Given the description of an element on the screen output the (x, y) to click on. 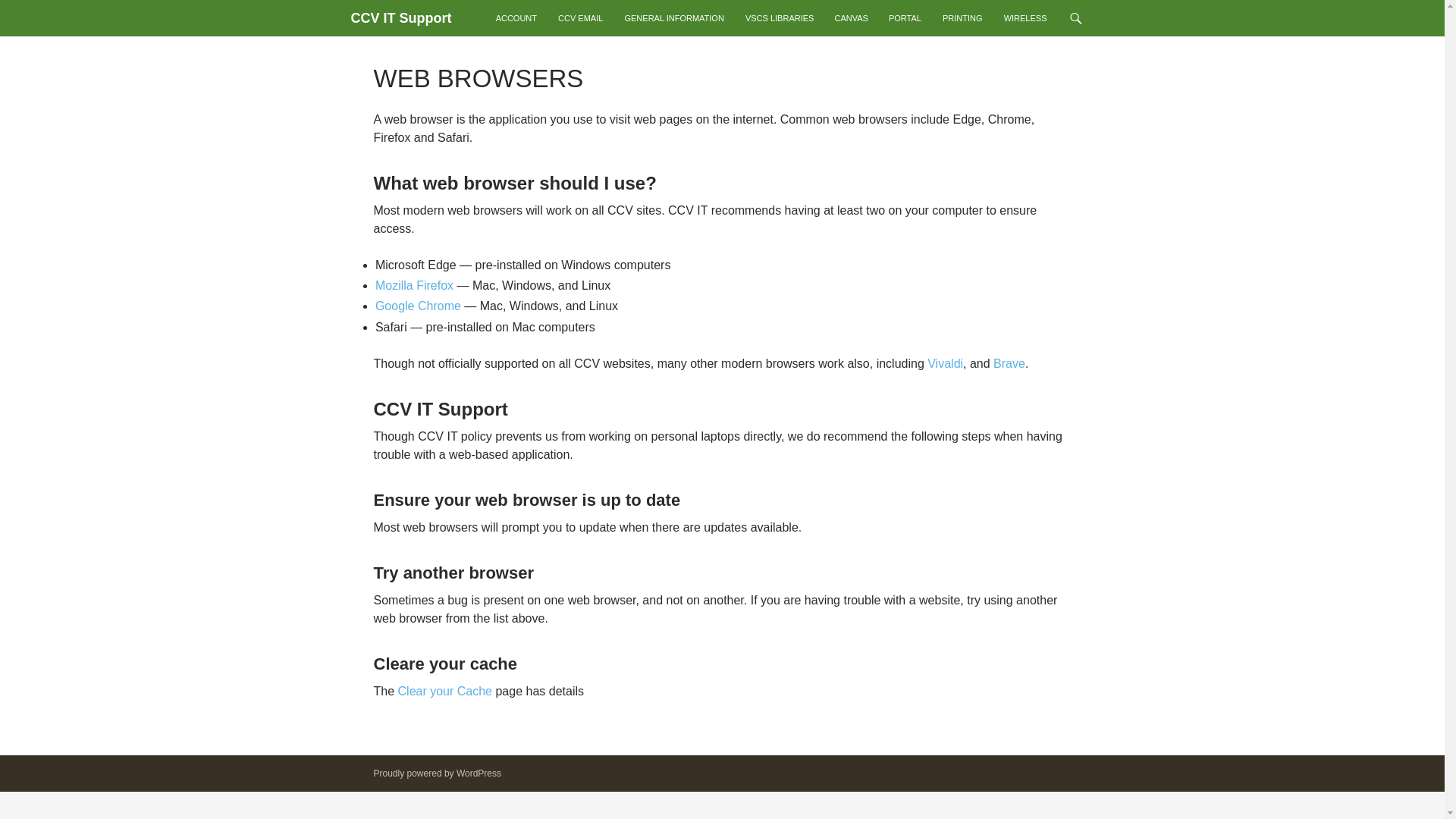
GENERAL INFORMATION (673, 18)
CCV EMAIL (580, 18)
VSCS LIBRARIES (779, 18)
PORTAL (905, 18)
CCV IT Support (400, 17)
CANVAS (850, 18)
ACCOUNT (516, 18)
